Given the description of an element on the screen output the (x, y) to click on. 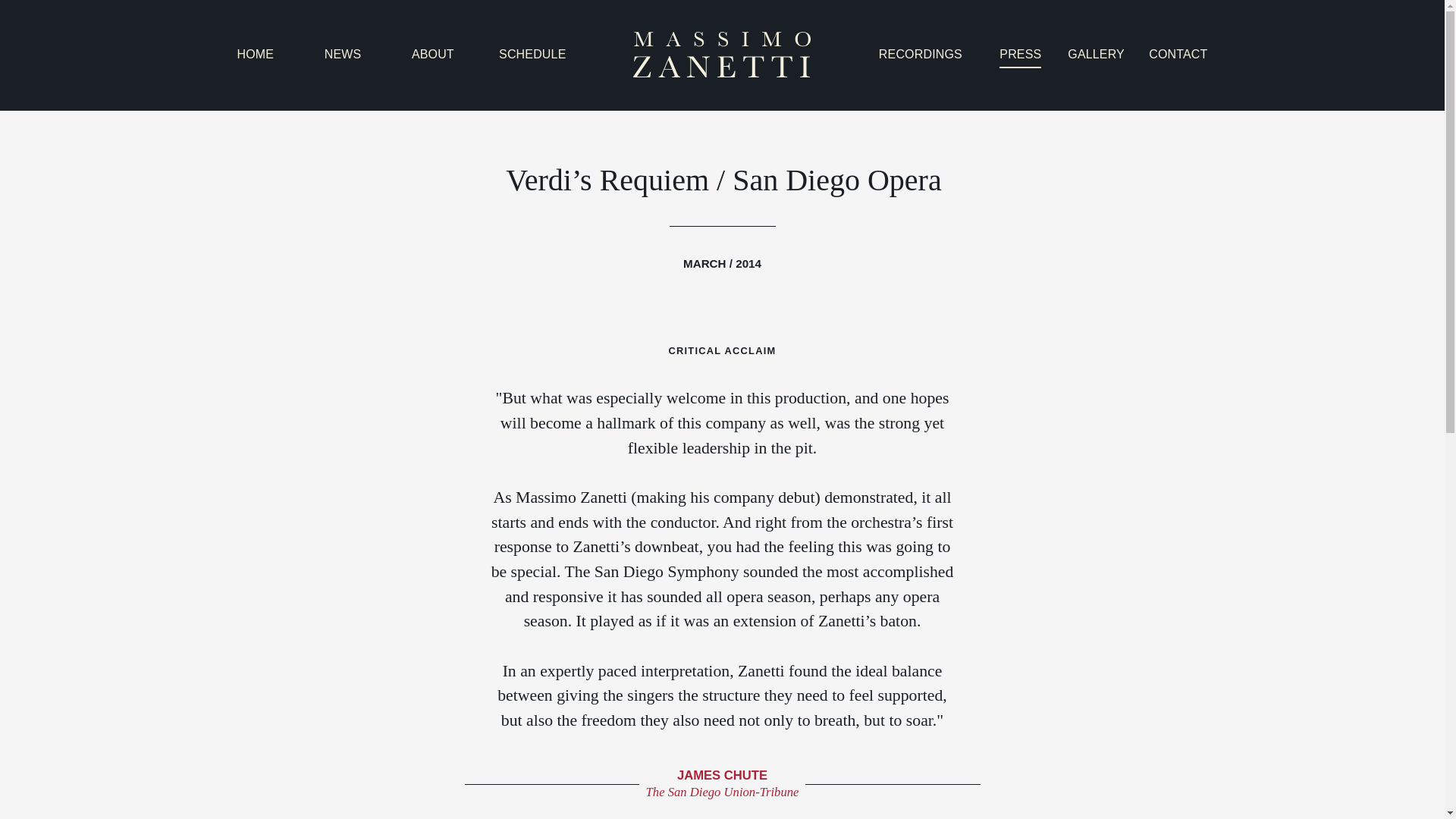
HOME (254, 54)
ABOUT (433, 54)
GALLERY (1095, 54)
SCHEDULE (532, 54)
NEWS (342, 54)
CONTACT (1177, 54)
PRESS (1019, 54)
Massimo Zanetti (721, 54)
RECORDINGS (920, 54)
